Given the description of an element on the screen output the (x, y) to click on. 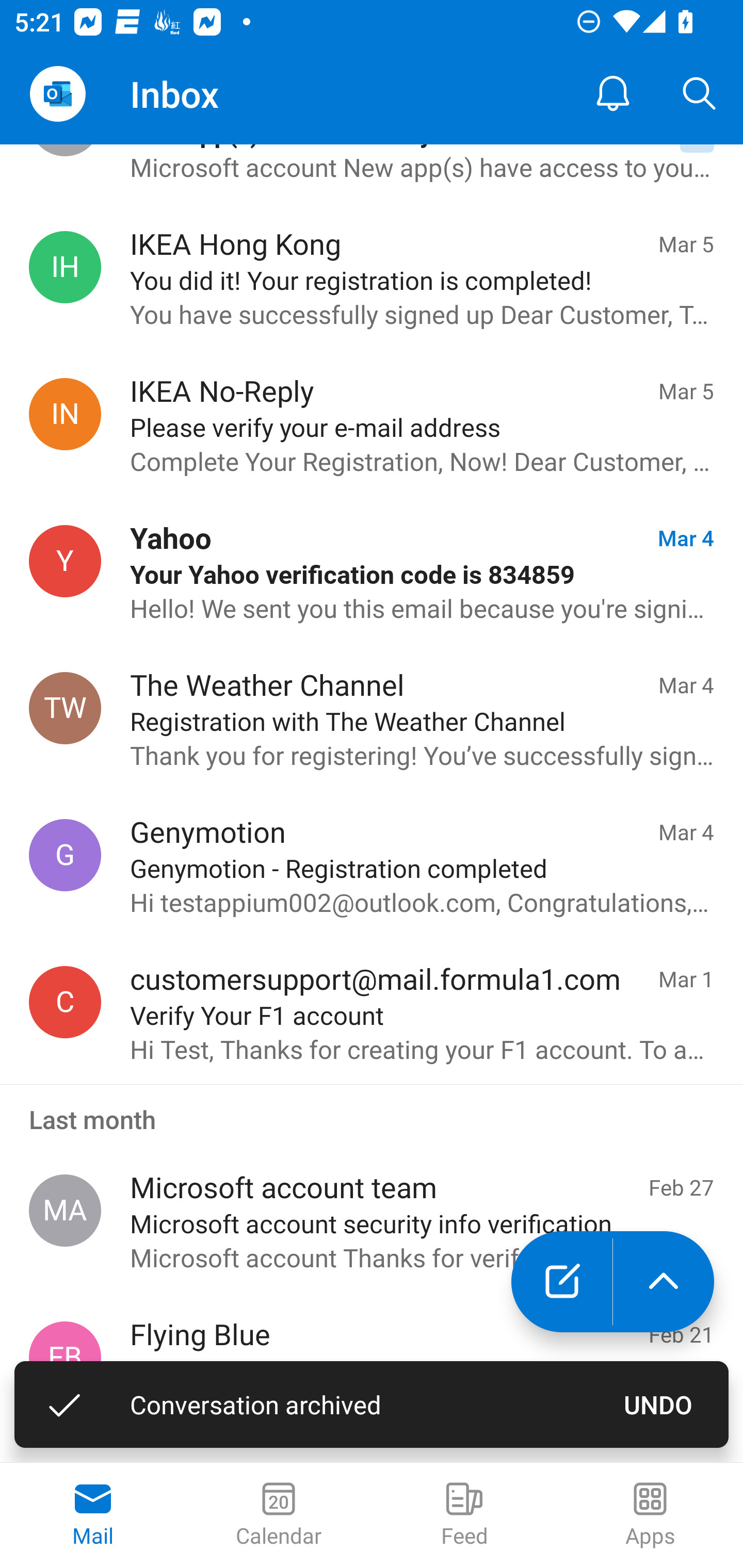
Notification Center (612, 93)
Search, ,  (699, 93)
Close Navigation Drawer (57, 94)
IKEA Hong Kong, IKHK_AWS@ikea.com.hk (64, 266)
IKEA No-Reply, noreply@ikea.com.hk (64, 413)
Yahoo, no-reply@cc.yahoo-inc.com (64, 561)
The Weather Channel, noreply@weather.com (64, 708)
Genymotion, genymotion-activation@genymobile.com (64, 854)
New mail (561, 1281)
launch the extended action menu (663, 1281)
UNDO (658, 1404)
Calendar (278, 1515)
Feed (464, 1515)
Apps (650, 1515)
